Given the description of an element on the screen output the (x, y) to click on. 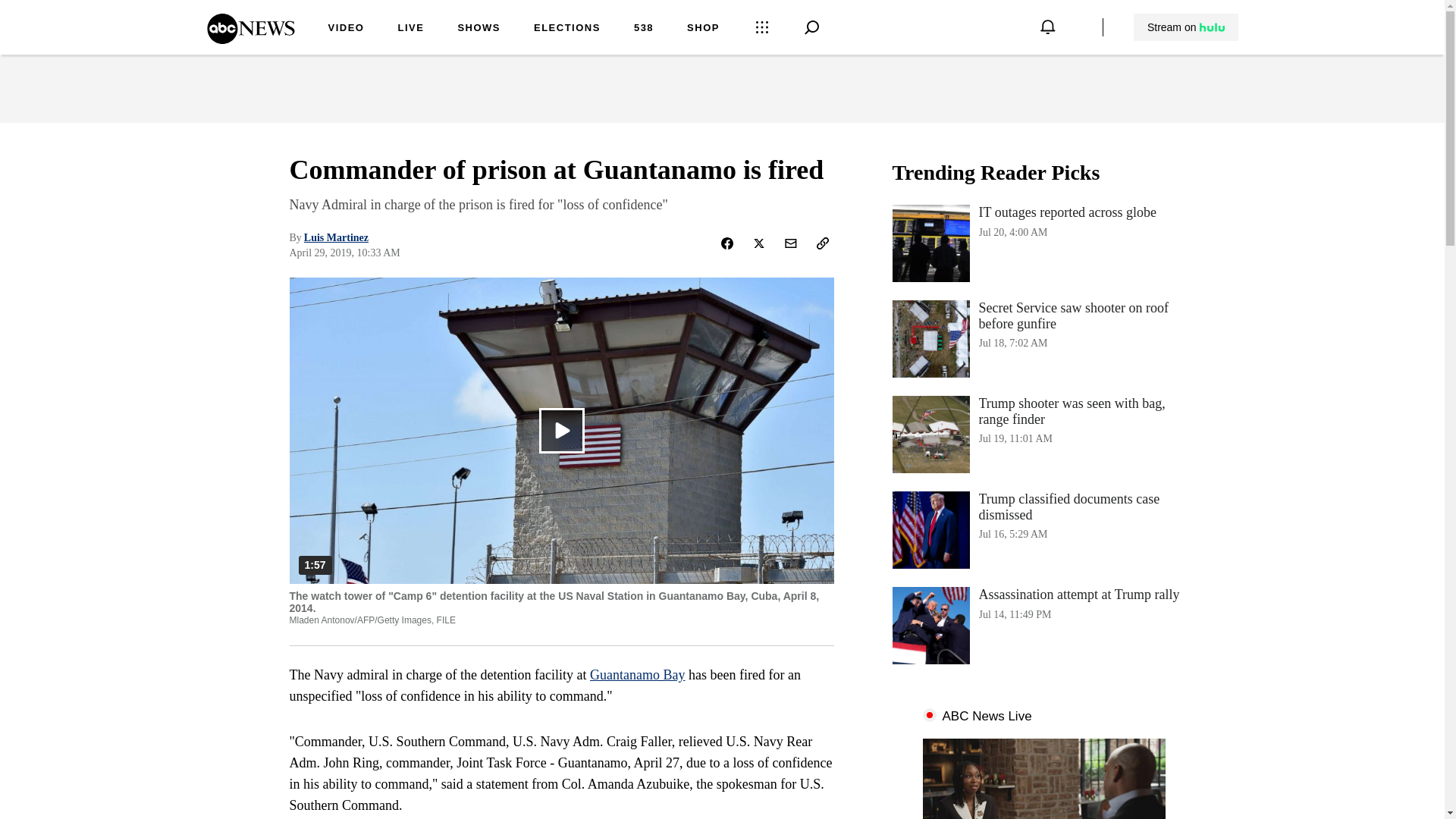
Guantanamo Bay (636, 674)
ELECTIONS (566, 28)
Stream on (1185, 27)
ABC News (250, 38)
538 (1043, 625)
Stream on (1043, 242)
SHOP (643, 28)
SHOWS (1186, 26)
Luis Martinez (703, 28)
VIDEO (1043, 529)
LIVE (478, 28)
